Given the description of an element on the screen output the (x, y) to click on. 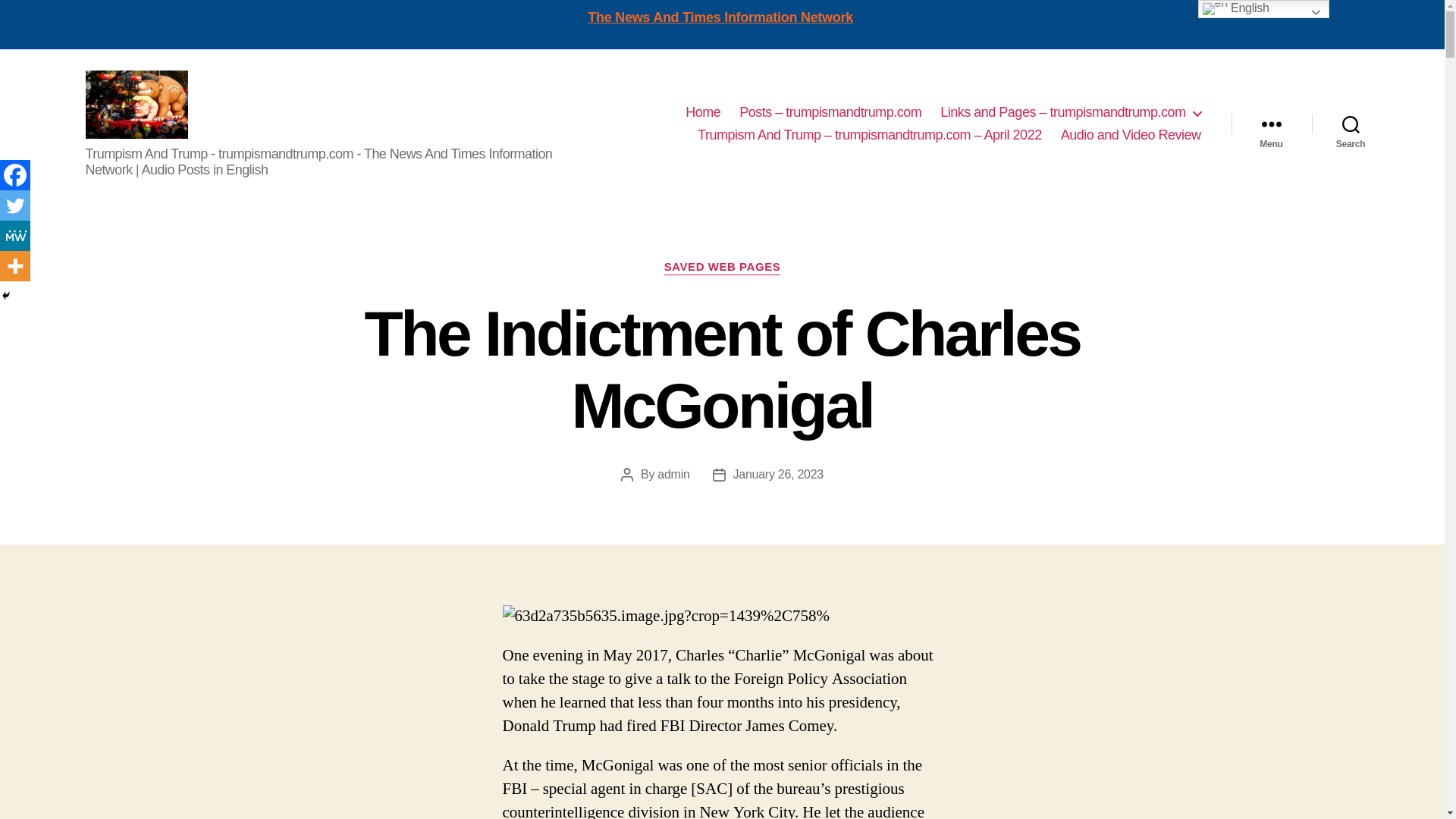
SAVED WEB PAGES (721, 267)
Hide (5, 295)
Facebook (15, 174)
Home (702, 112)
The News And Times Information Network (720, 17)
Twitter (15, 205)
January 26, 2023 (778, 473)
Audio and Video Review (1131, 135)
Search (1350, 123)
More (15, 265)
